Given the description of an element on the screen output the (x, y) to click on. 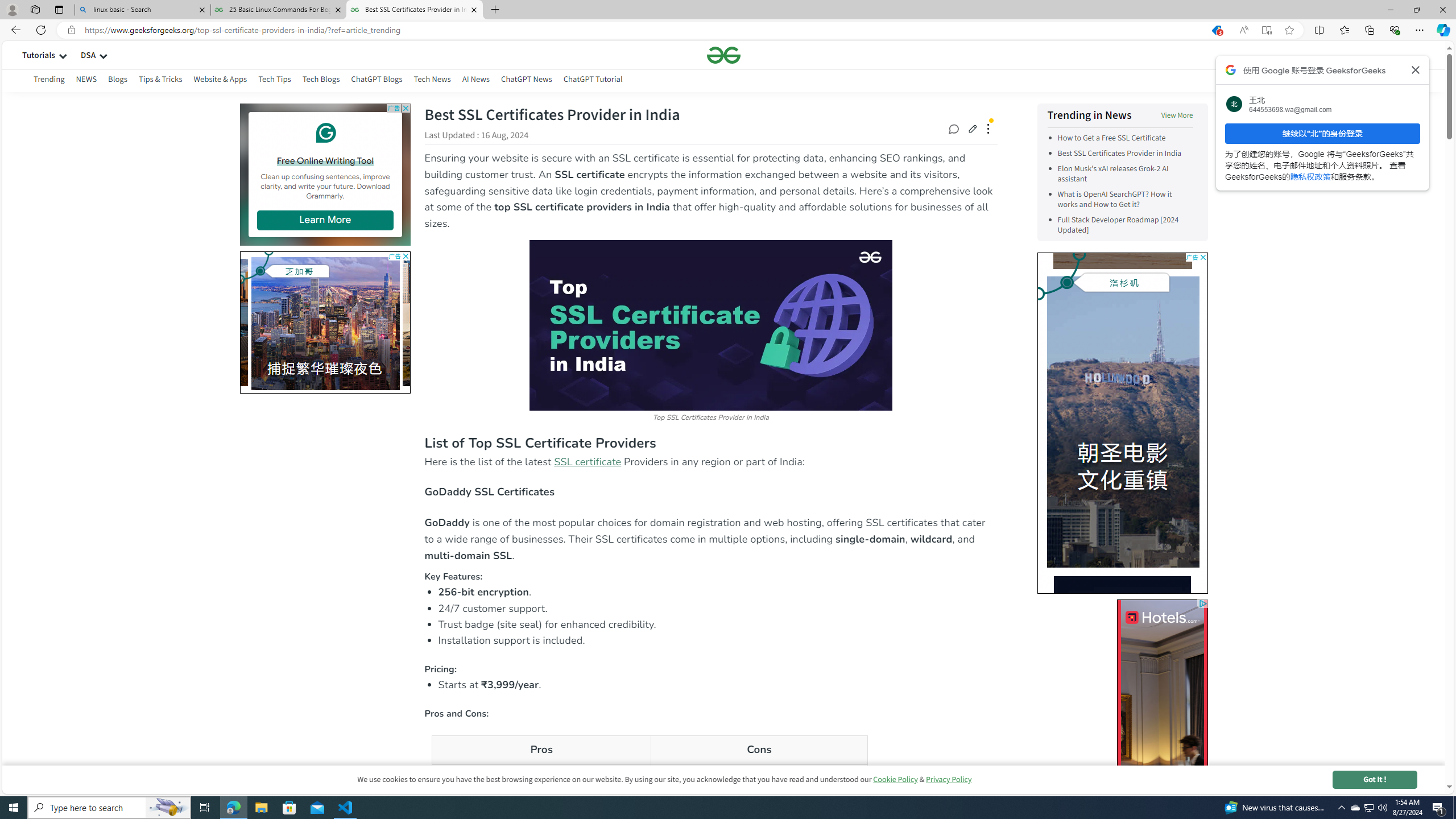
AI News (475, 79)
Trending (42, 80)
24/7 customer support. (717, 608)
Class: ns-0w9yu-e-5 (324, 133)
AutomationID: brandLogo (1121, 422)
ChatGPT News (526, 79)
Tech Blogs (321, 79)
AutomationID: tag (1121, 422)
DSA (88, 55)
Cookie Policy (895, 779)
SSL certificate (587, 462)
